Given the description of an element on the screen output the (x, y) to click on. 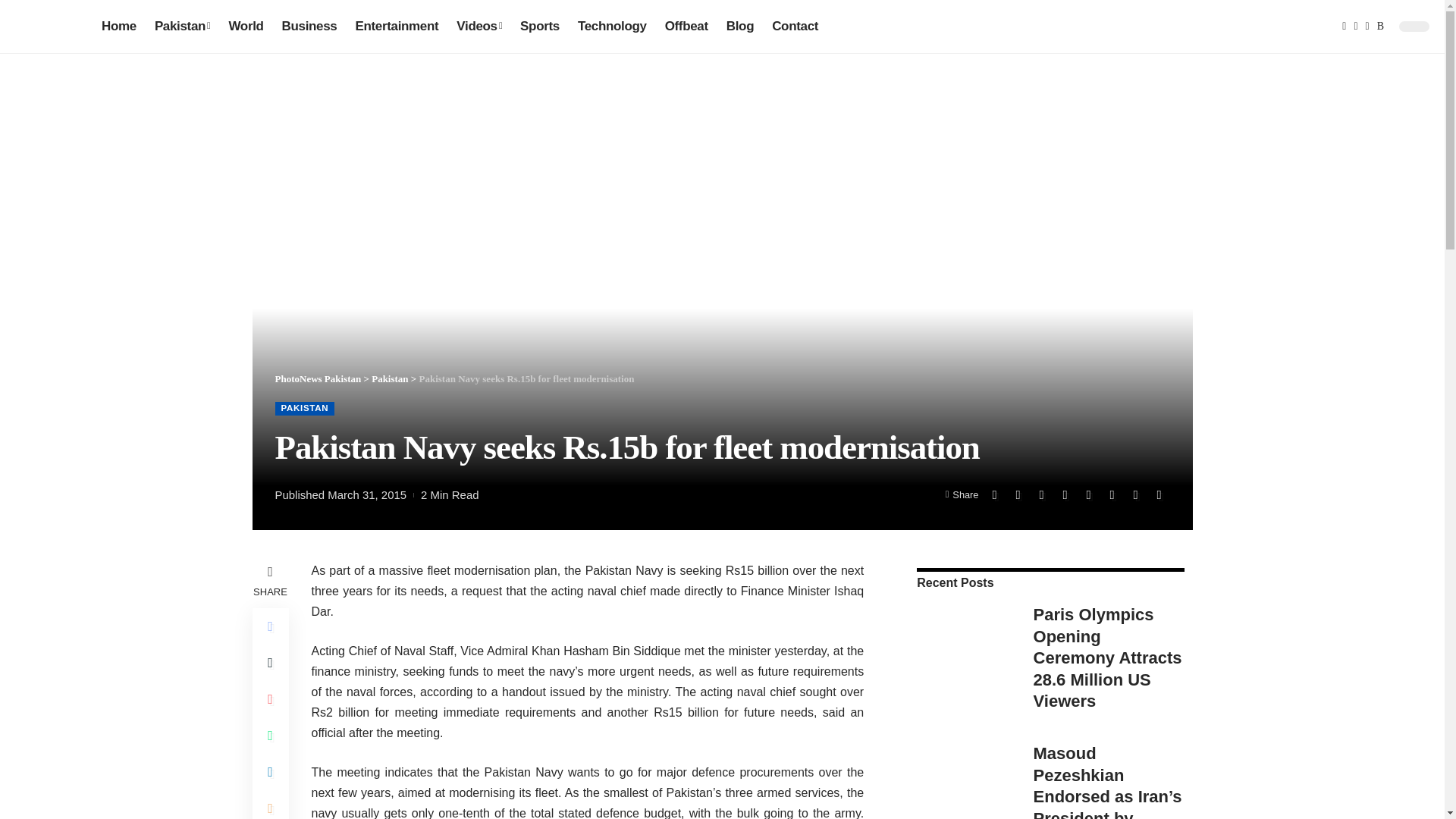
Blog (739, 26)
Entertainment (396, 26)
Home (119, 26)
Offbeat (686, 26)
Pakistan (182, 26)
Videos (478, 26)
Sports (540, 26)
Technology (612, 26)
World (245, 26)
Business (309, 26)
Go to the Pakistan Category archives. (389, 378)
Contact (794, 26)
Go to PhotoNews Pakistan. (318, 378)
